Given the description of an element on the screen output the (x, y) to click on. 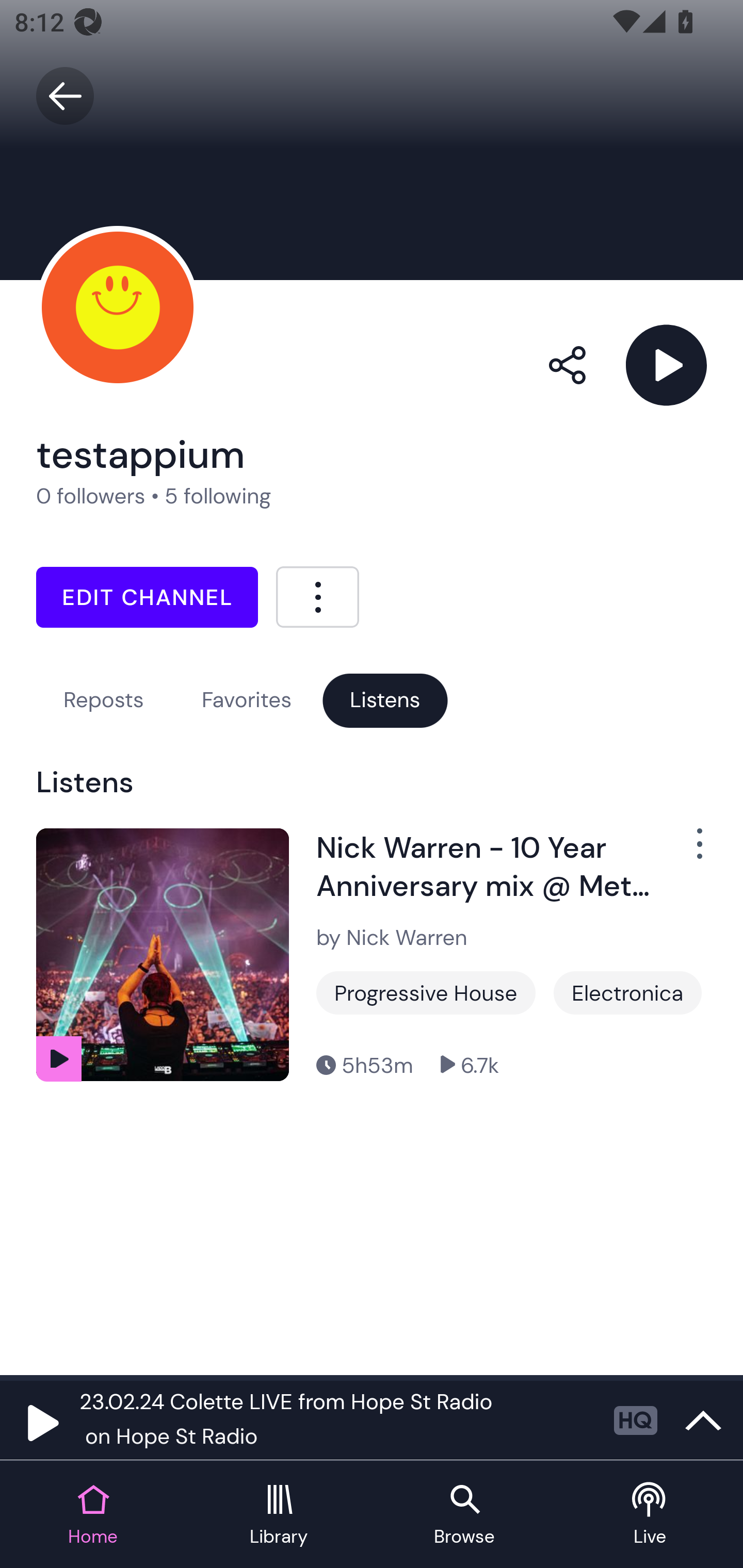
0 followers (90, 495)
5 following (217, 495)
More Menu (317, 596)
Edit Channel EDIT CHANNEL (146, 597)
Reposts (103, 699)
Favorites (246, 699)
Listens (384, 699)
Show Options Menu Button (688, 850)
Progressive House (425, 992)
Electronica (627, 992)
Home tab Home (92, 1515)
Library tab Library (278, 1515)
Browse tab Browse (464, 1515)
Live tab Live (650, 1515)
